Given the description of an element on the screen output the (x, y) to click on. 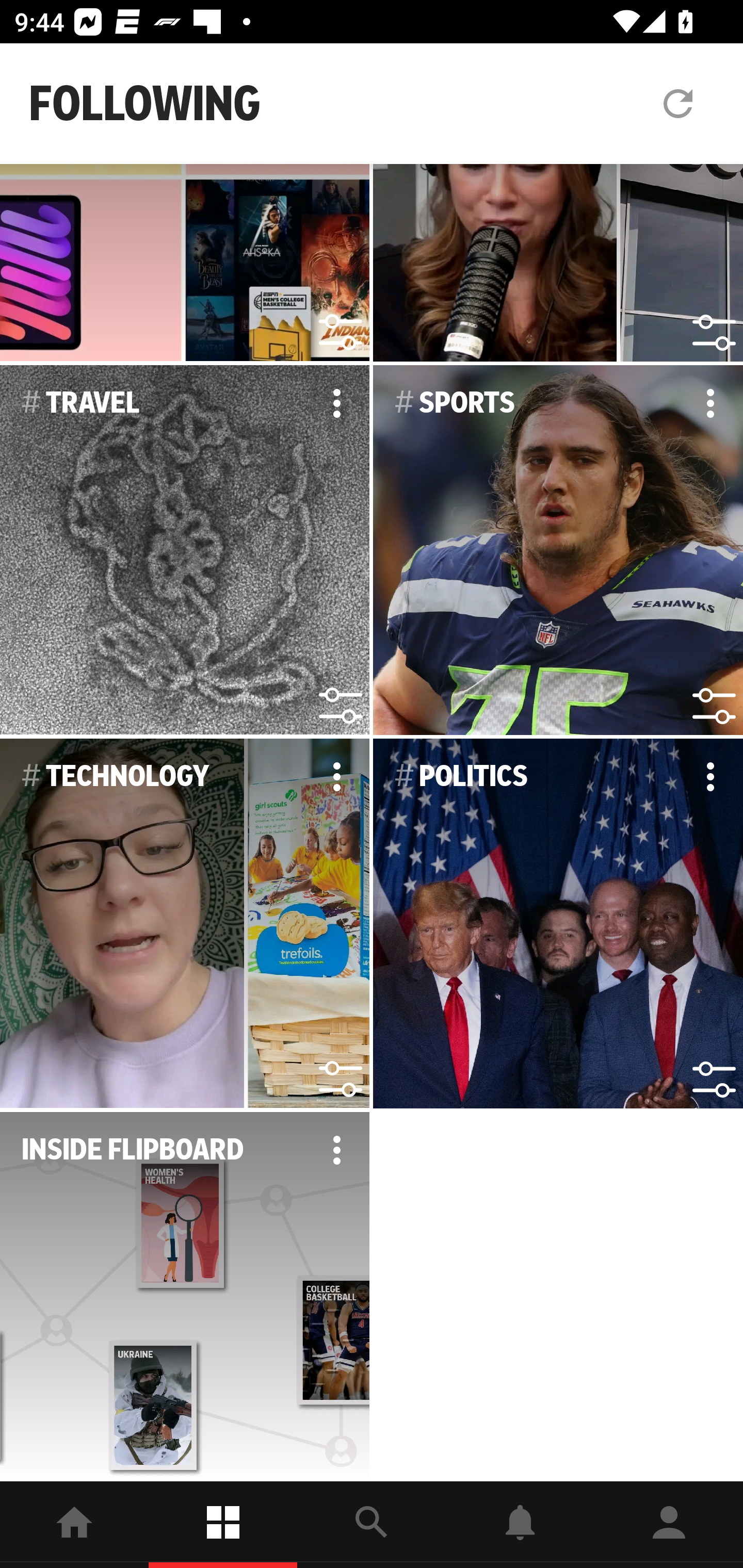
# TRAVEL Options (184, 550)
Options (336, 402)
# SPORTS Options (557, 550)
Options (710, 402)
# TECHNOLOGY Options (184, 923)
Options (336, 775)
# POLITICS Options (557, 923)
Options (710, 775)
INSIDE FLIPBOARD Options (184, 1296)
Options (336, 1149)
home (74, 1524)
Following (222, 1524)
explore (371, 1524)
Notifications (519, 1524)
Profile (668, 1524)
